Given the description of an element on the screen output the (x, y) to click on. 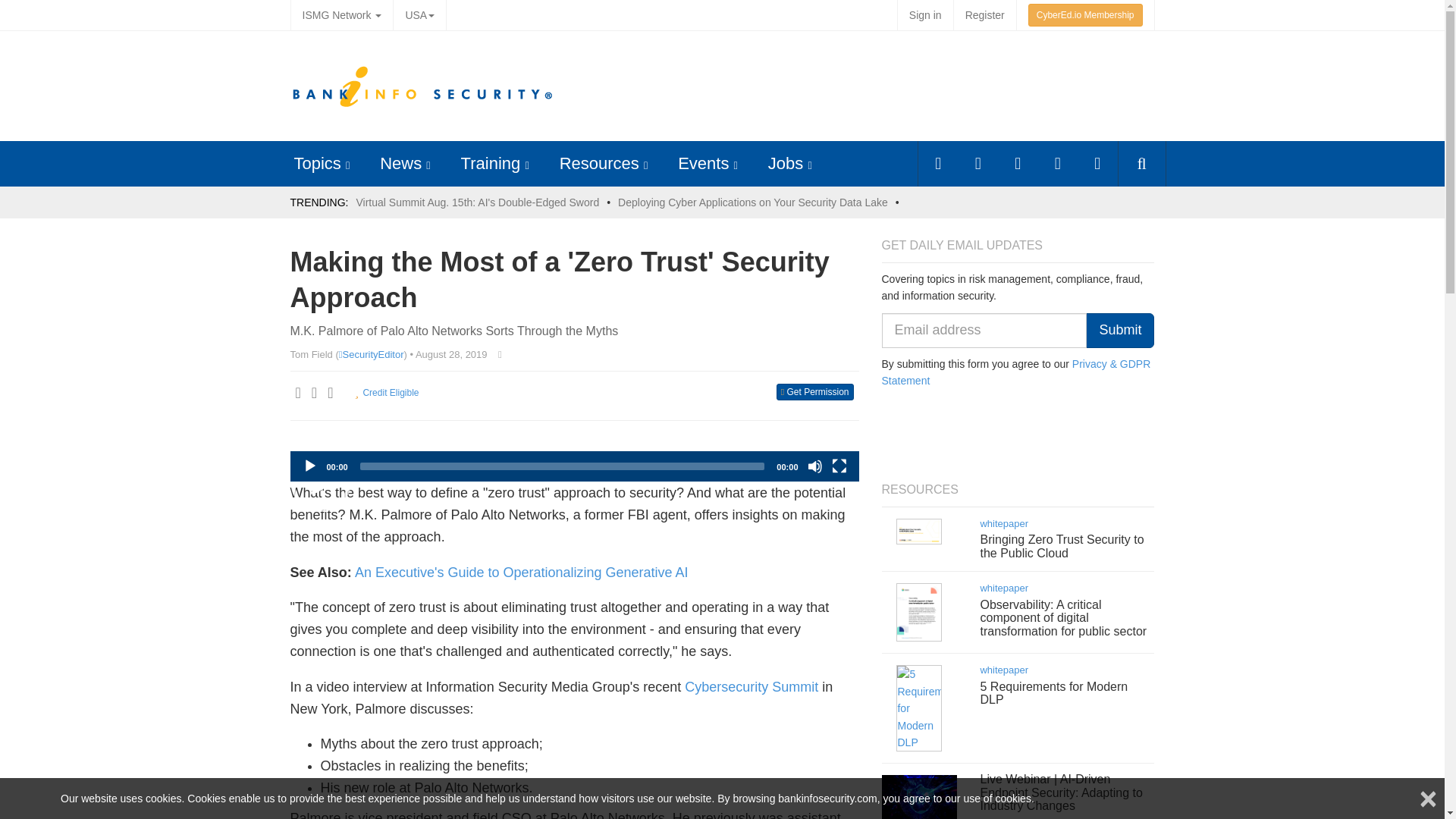
CyberEd.io Membership (1084, 15)
Register (984, 15)
Topics (317, 162)
ISMG Network (341, 15)
USA (418, 15)
Sign in (925, 15)
